Given the description of an element on the screen output the (x, y) to click on. 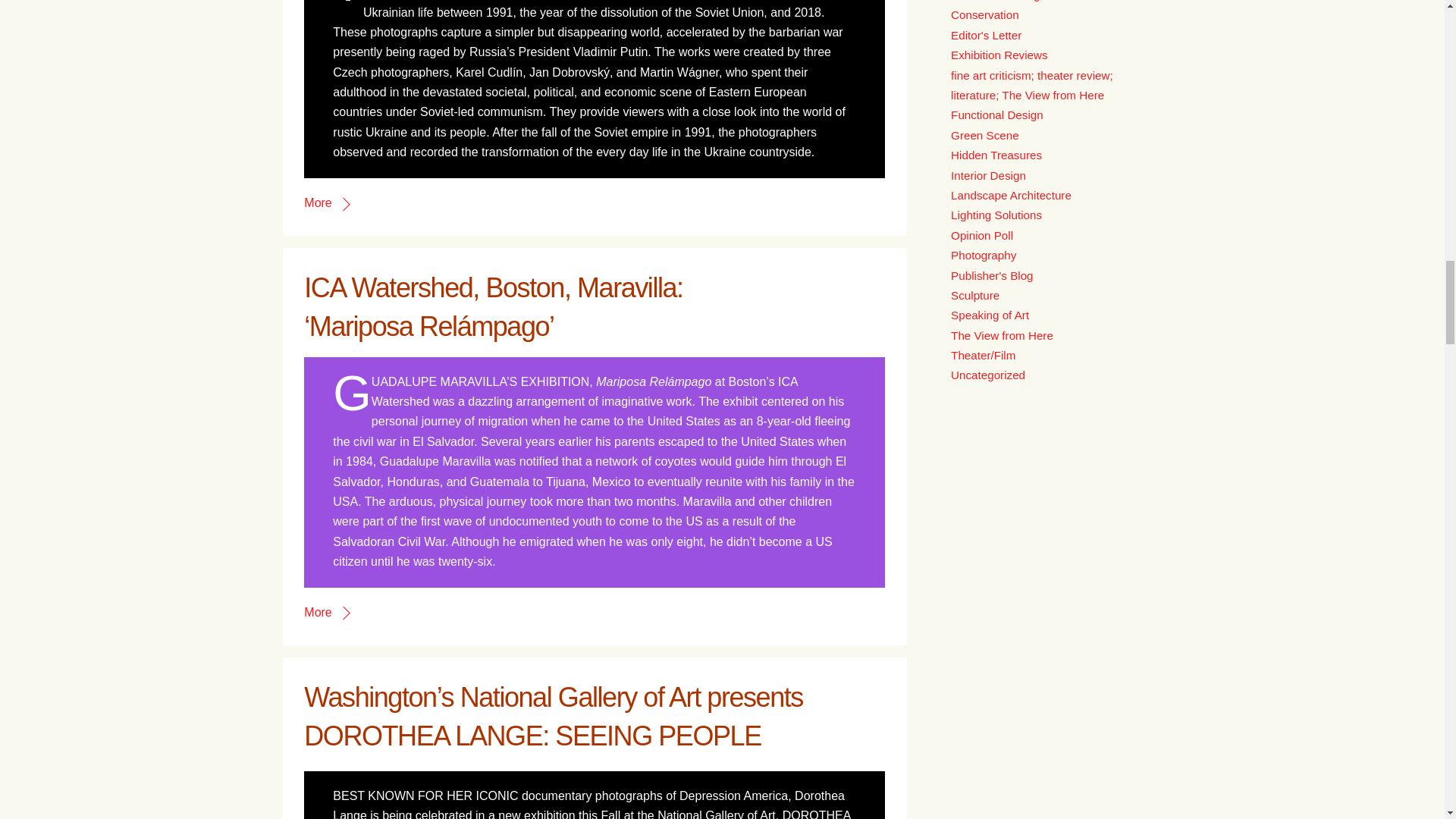
More (325, 202)
More (325, 612)
